Given the description of an element on the screen output the (x, y) to click on. 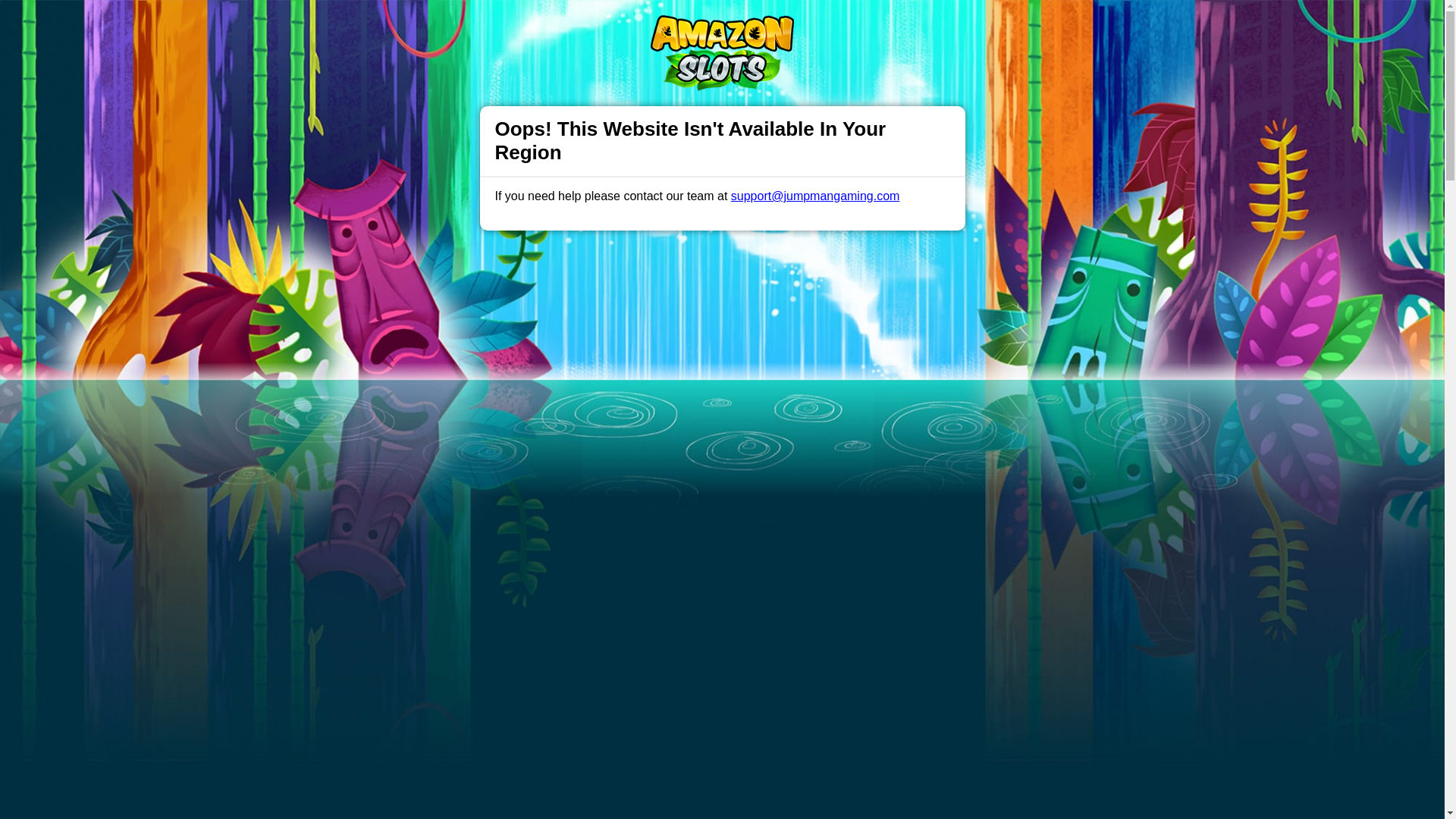
Join Now (1054, 26)
Promotions (522, 26)
wagering requirements (443, 738)
here (627, 738)
Trophies (453, 26)
All Games (596, 26)
Login (963, 26)
Play 1 Million Megaways Slot (722, 681)
